Given the description of an element on the screen output the (x, y) to click on. 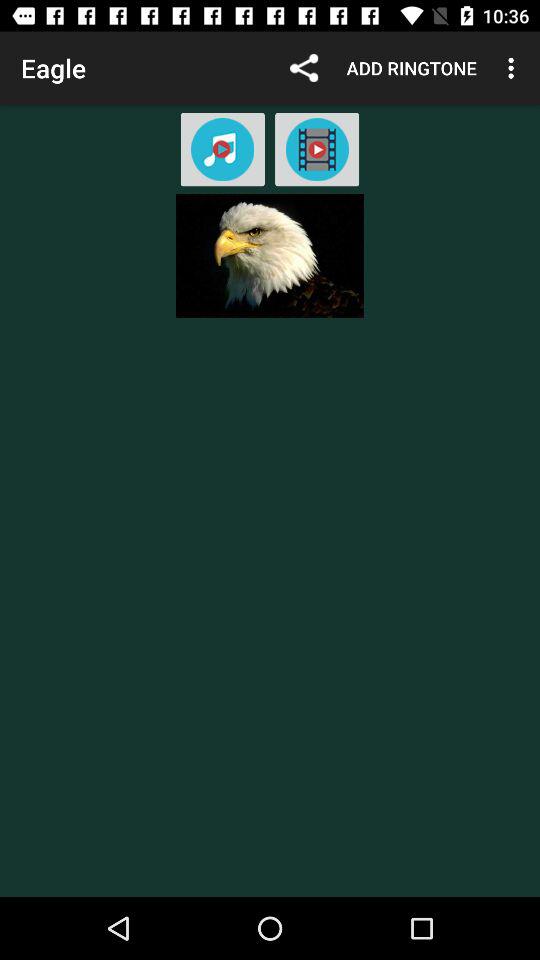
open the item to the right of the add ringtone icon (513, 67)
